Given the description of an element on the screen output the (x, y) to click on. 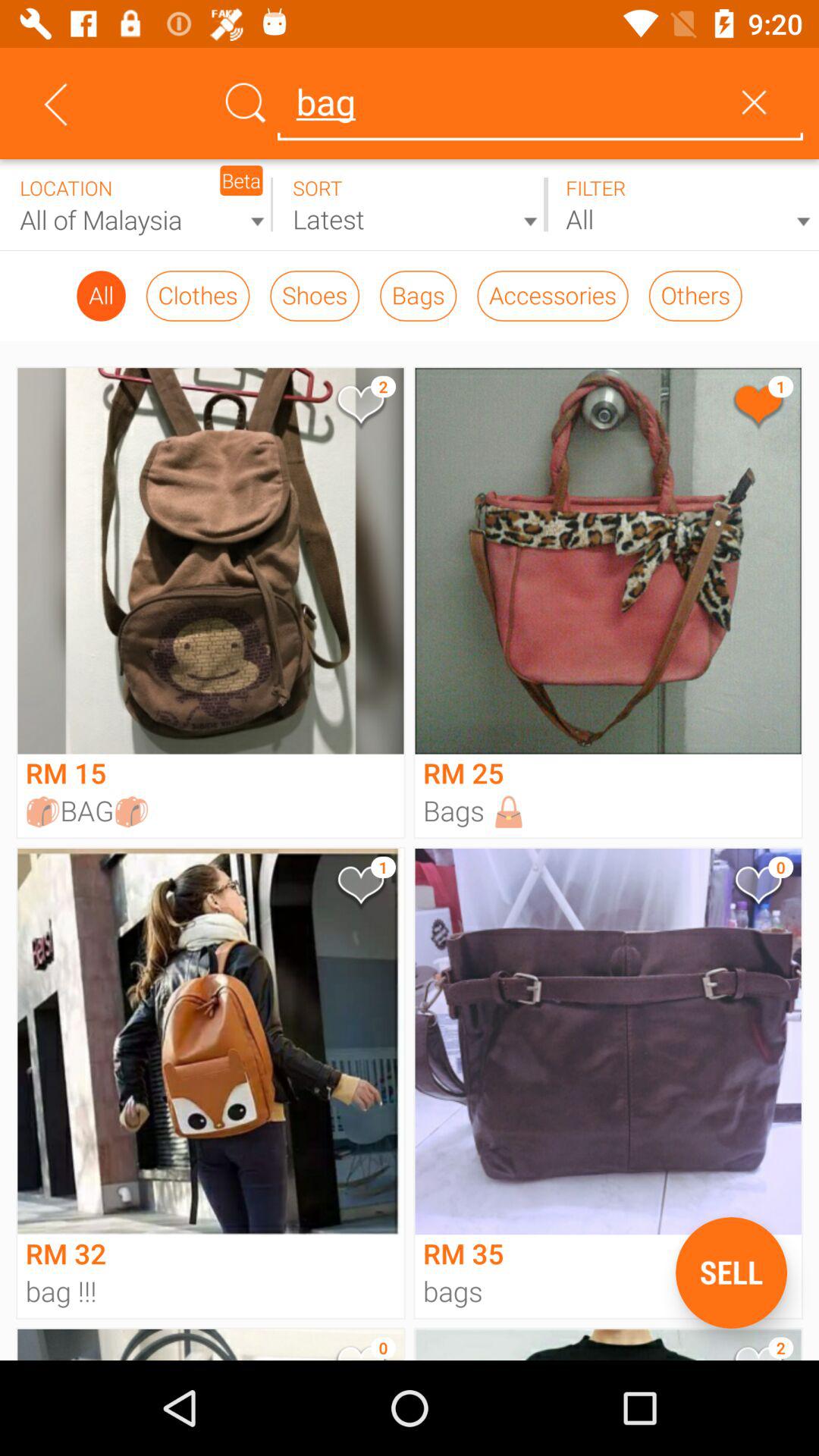
recent products (409, 204)
